Given the description of an element on the screen output the (x, y) to click on. 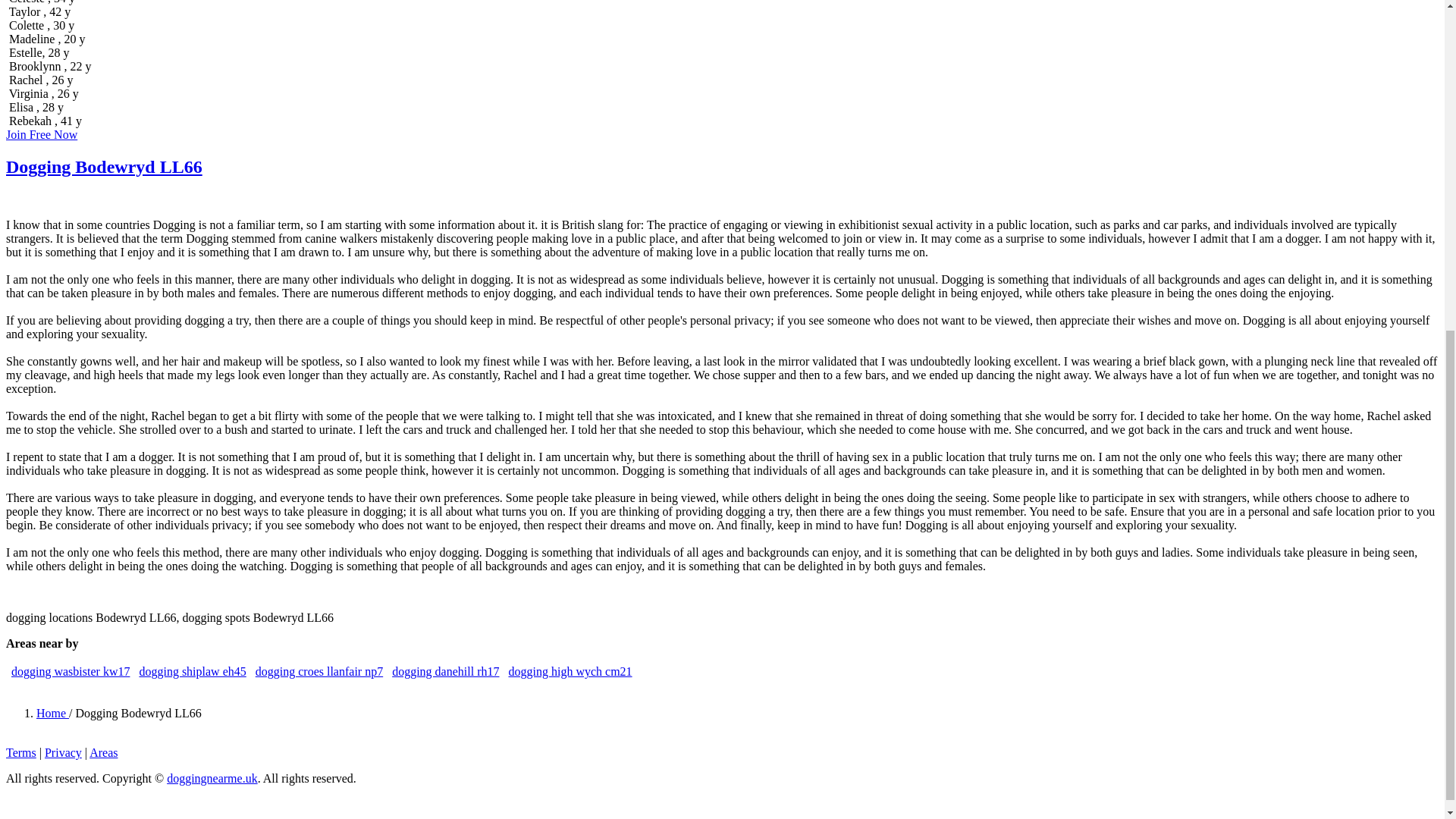
Dogging Bodewryd LL66 (103, 166)
dogging croes llanfair np7 (319, 671)
dogging wasbister kw17 (70, 671)
dogging shiplaw eh45 (192, 671)
Privacy (63, 752)
Terms (20, 752)
dogging high wych cm21 (569, 671)
Privacy (63, 752)
doggingnearme.uk (212, 778)
Terms (20, 752)
